Given the description of an element on the screen output the (x, y) to click on. 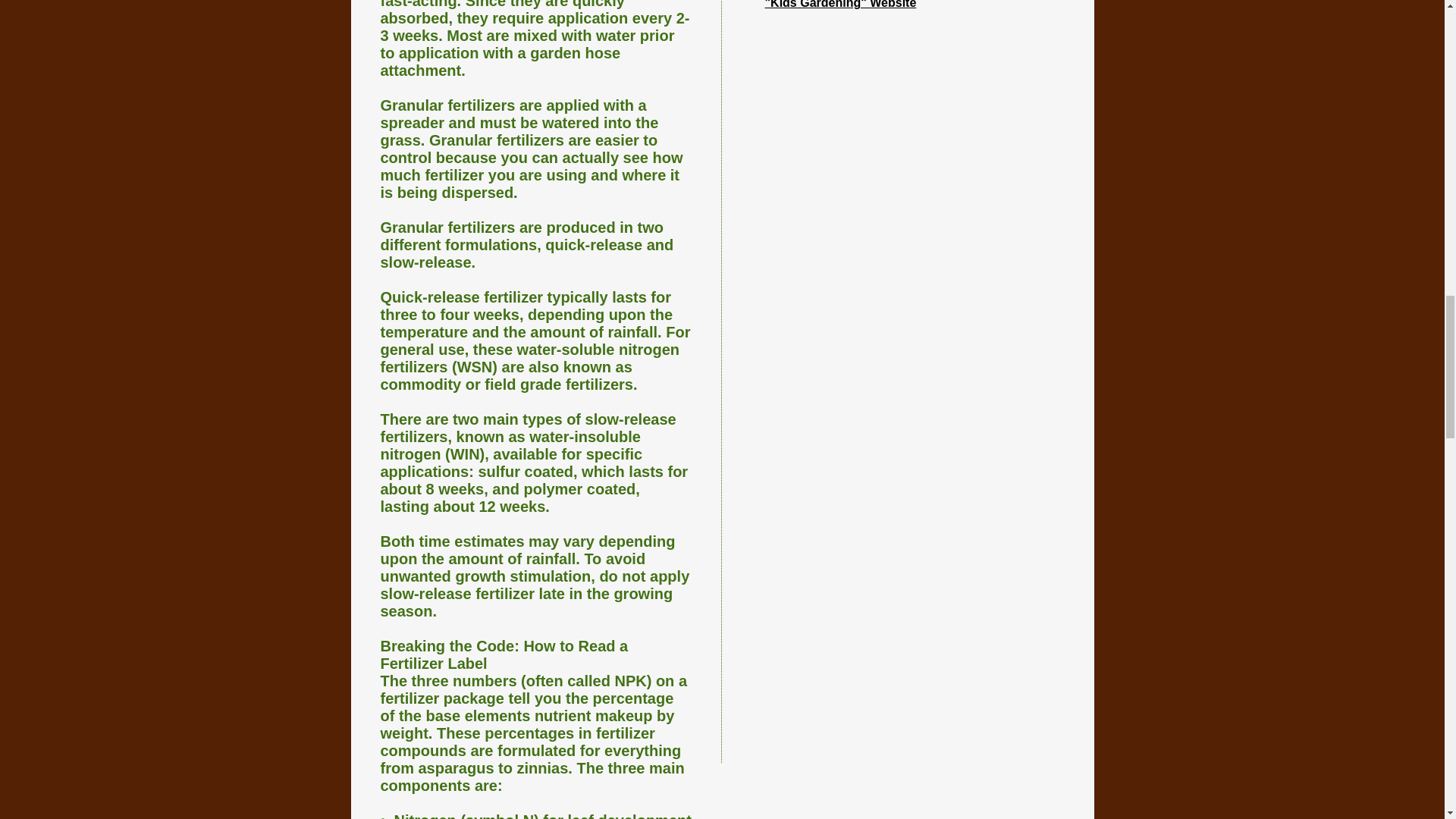
"KIds Gardening" Website (839, 4)
